Given the description of an element on the screen output the (x, y) to click on. 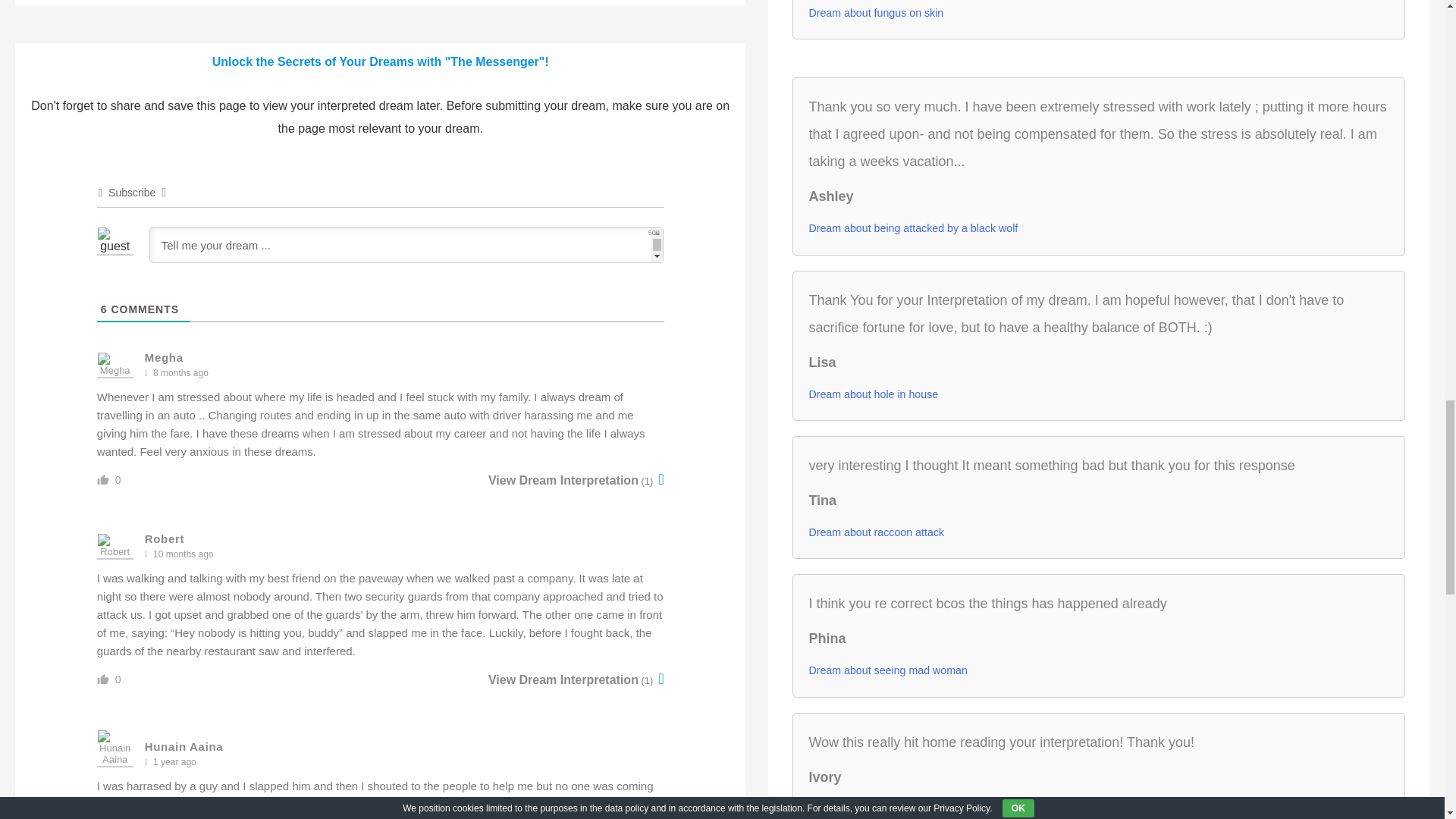
0 (118, 480)
November 16, 2023 8:09 am (179, 373)
